Given the description of an element on the screen output the (x, y) to click on. 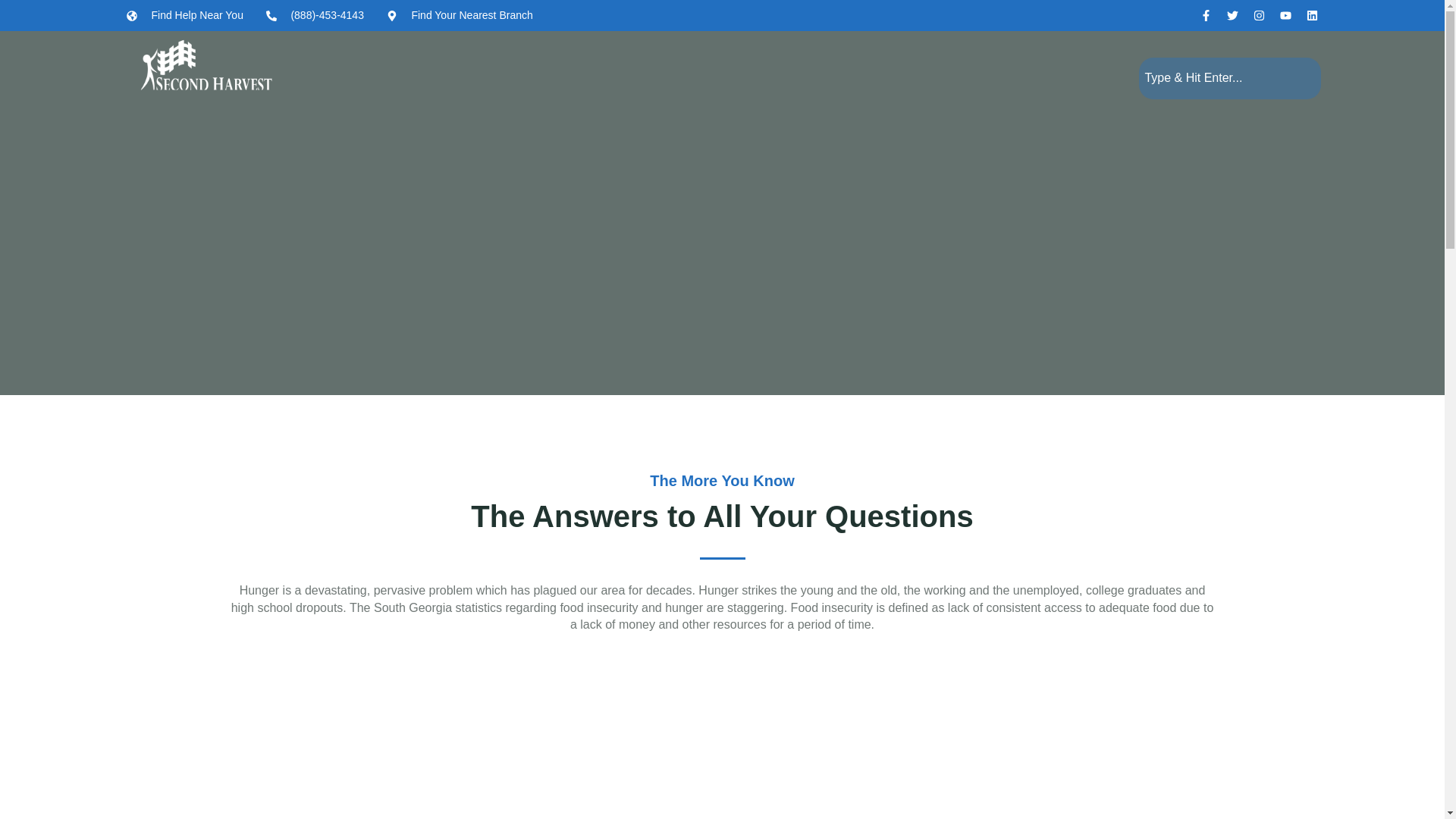
Linkedin (1311, 15)
Instagram (1259, 15)
Facebook-f (1205, 15)
Find Help Near You (184, 15)
Search (1229, 77)
Twitter (1233, 15)
Youtube (1285, 15)
Find Your Nearest Branch (459, 15)
